Given the description of an element on the screen output the (x, y) to click on. 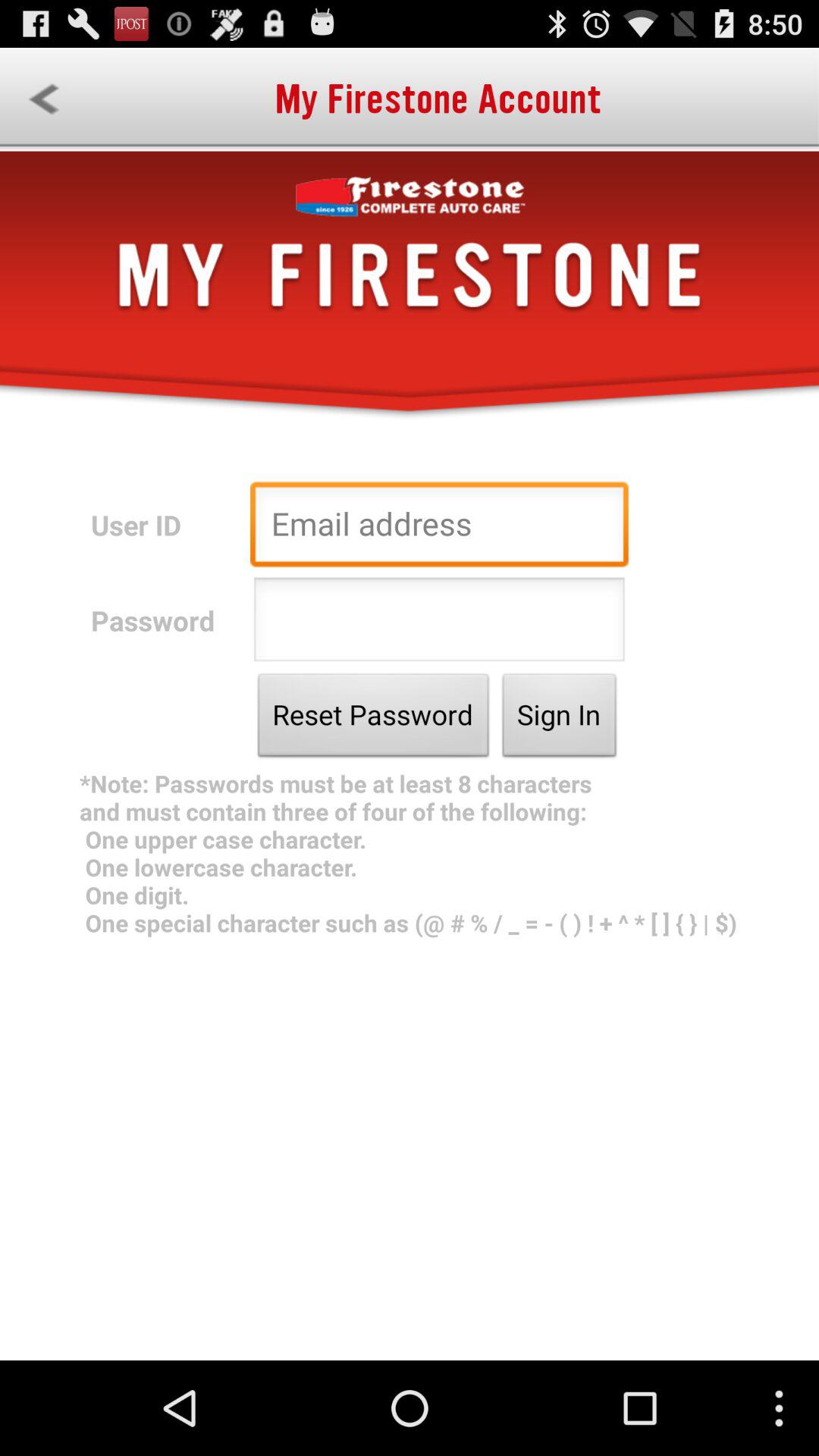
swipe to sign in (559, 719)
